Given the description of an element on the screen output the (x, y) to click on. 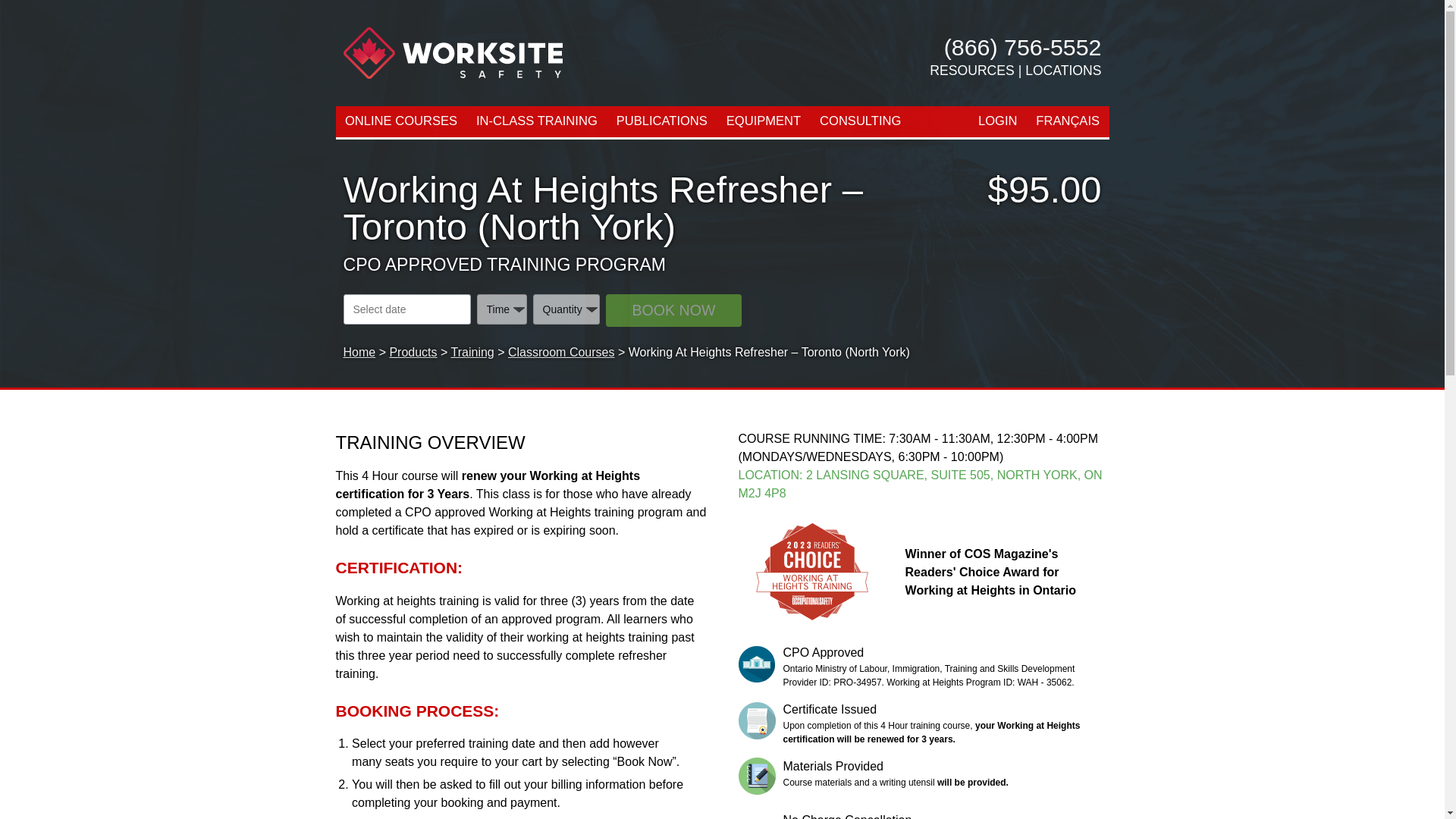
CPO Approved (757, 663)
LOCATIONS (1062, 70)
Materials Provided (757, 775)
RESOURCES (971, 70)
ONLINE COURSES (399, 121)
Certificate Issued (757, 720)
